Given the description of an element on the screen output the (x, y) to click on. 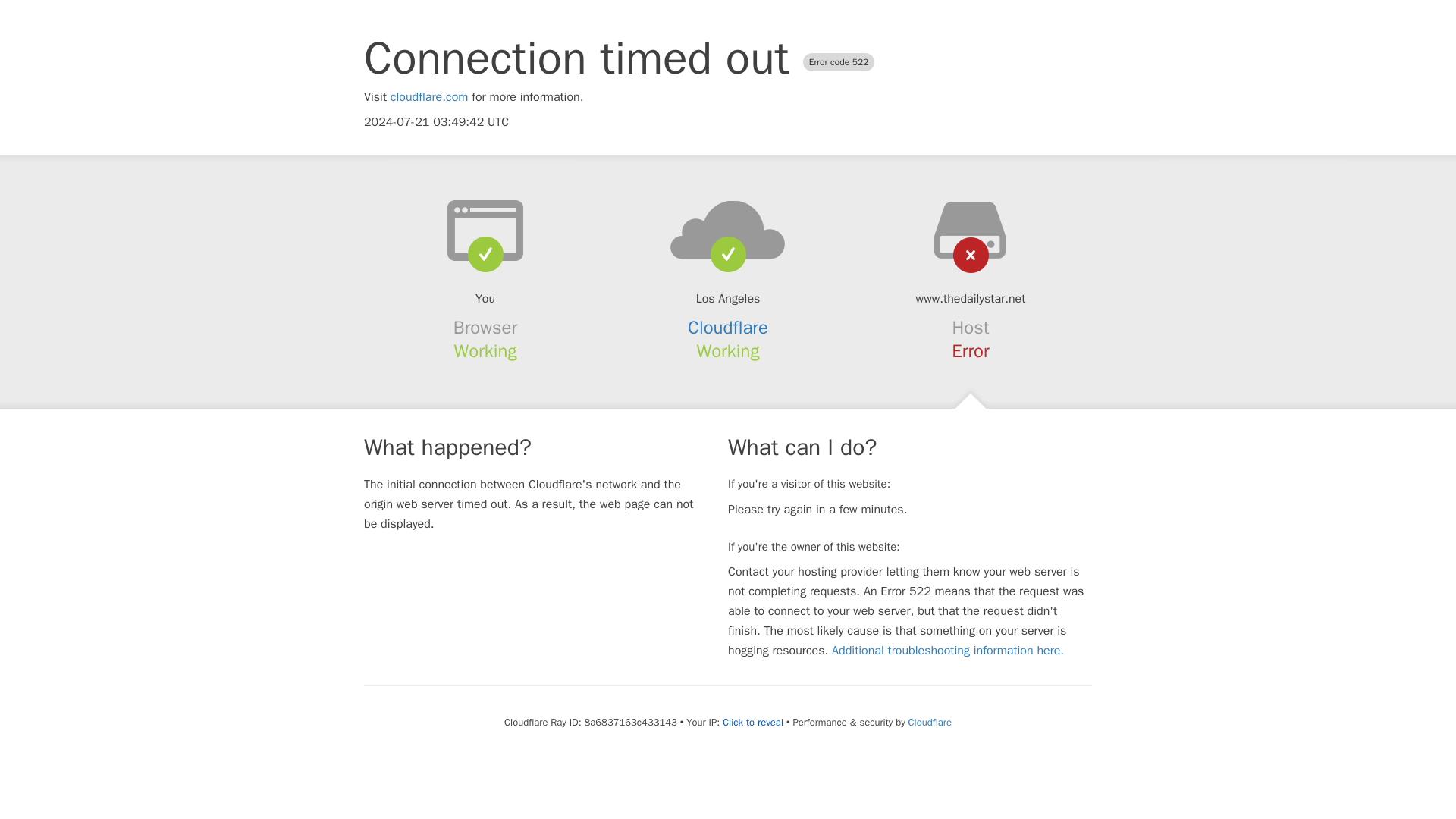
Cloudflare (930, 721)
Additional troubleshooting information here. (947, 650)
Cloudflare (727, 327)
cloudflare.com (429, 96)
Click to reveal (752, 722)
